Given the description of an element on the screen output the (x, y) to click on. 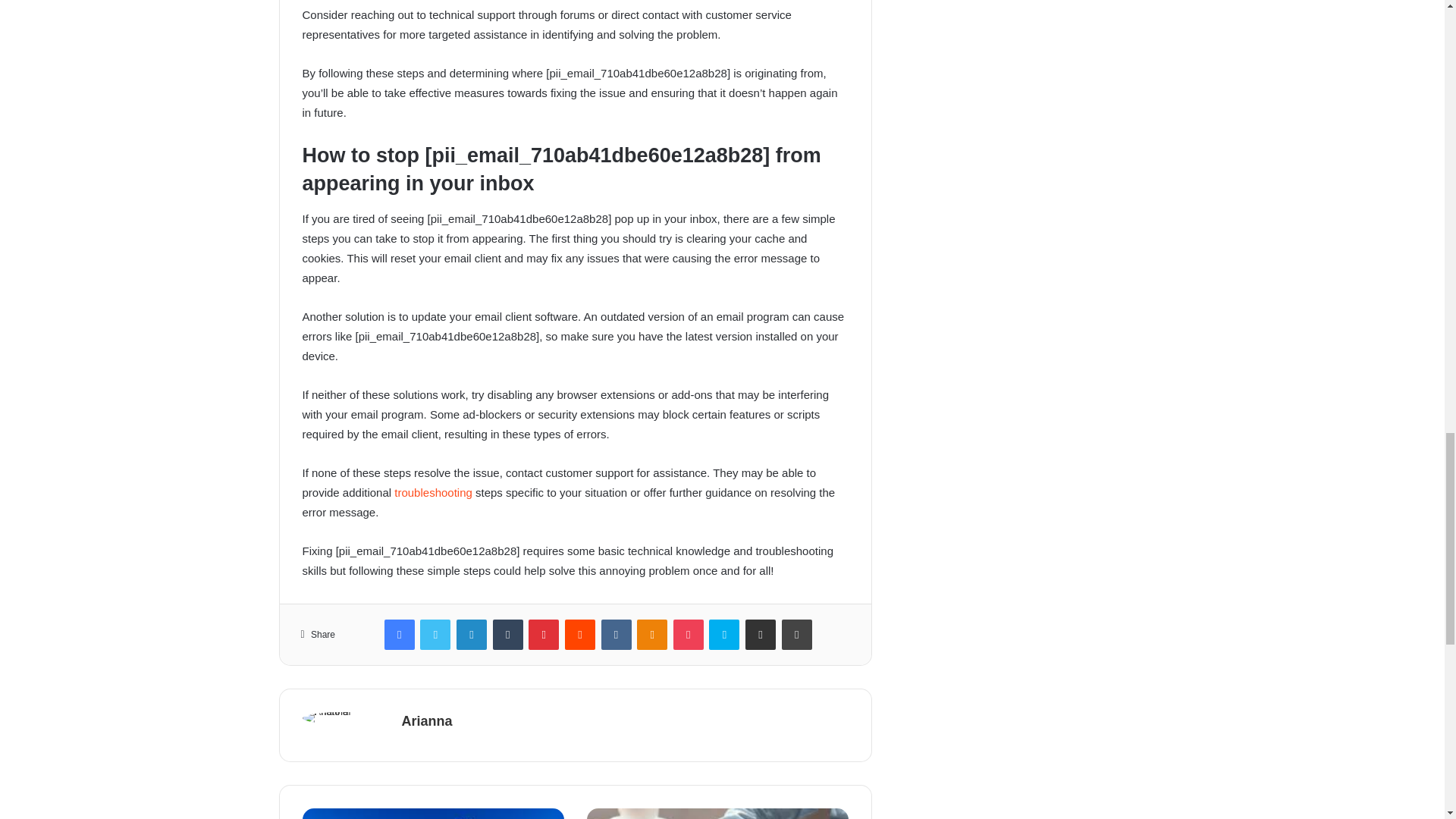
troubleshooting (432, 492)
